Given the description of an element on the screen output the (x, y) to click on. 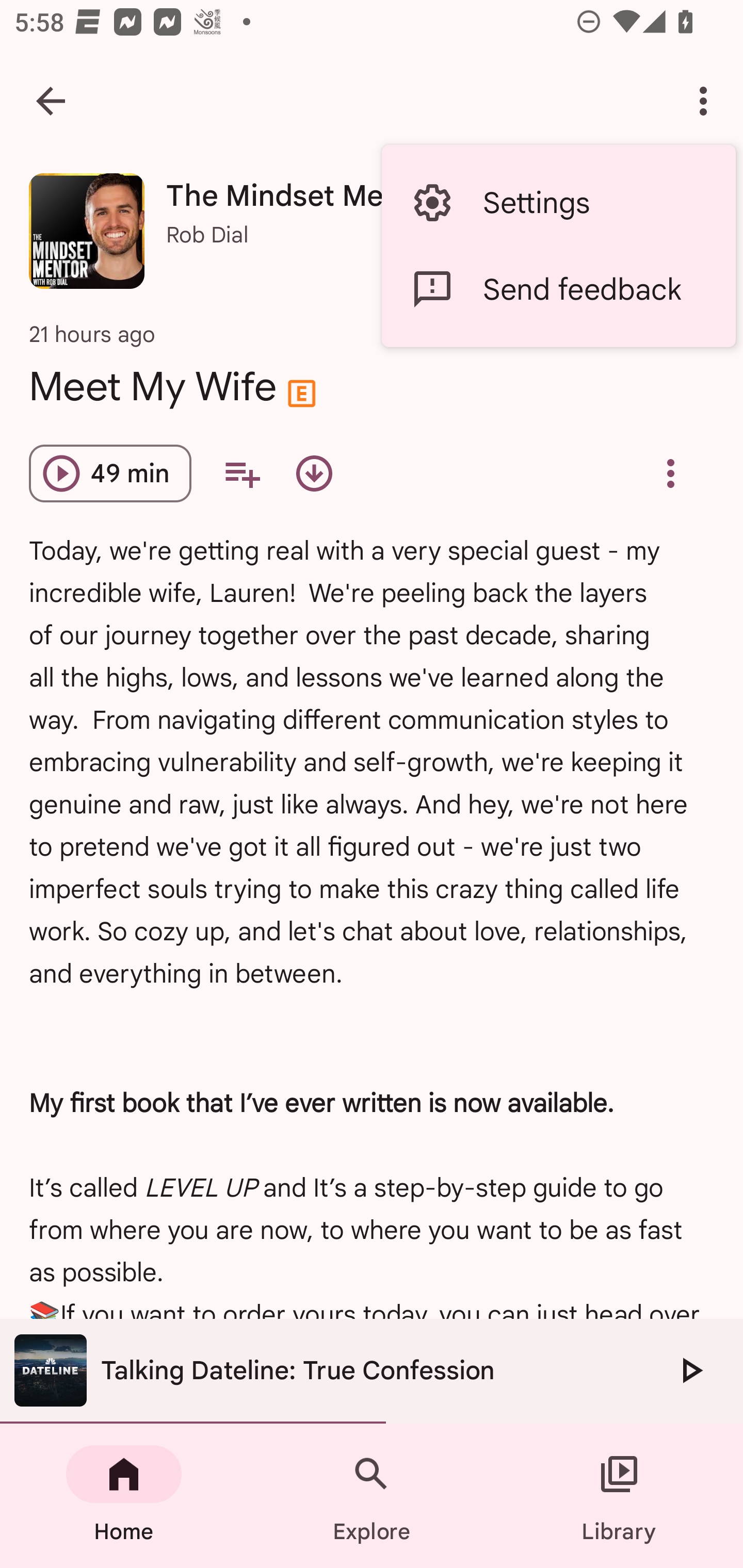
Settings (558, 202)
Send feedback (558, 289)
